Given the description of an element on the screen output the (x, y) to click on. 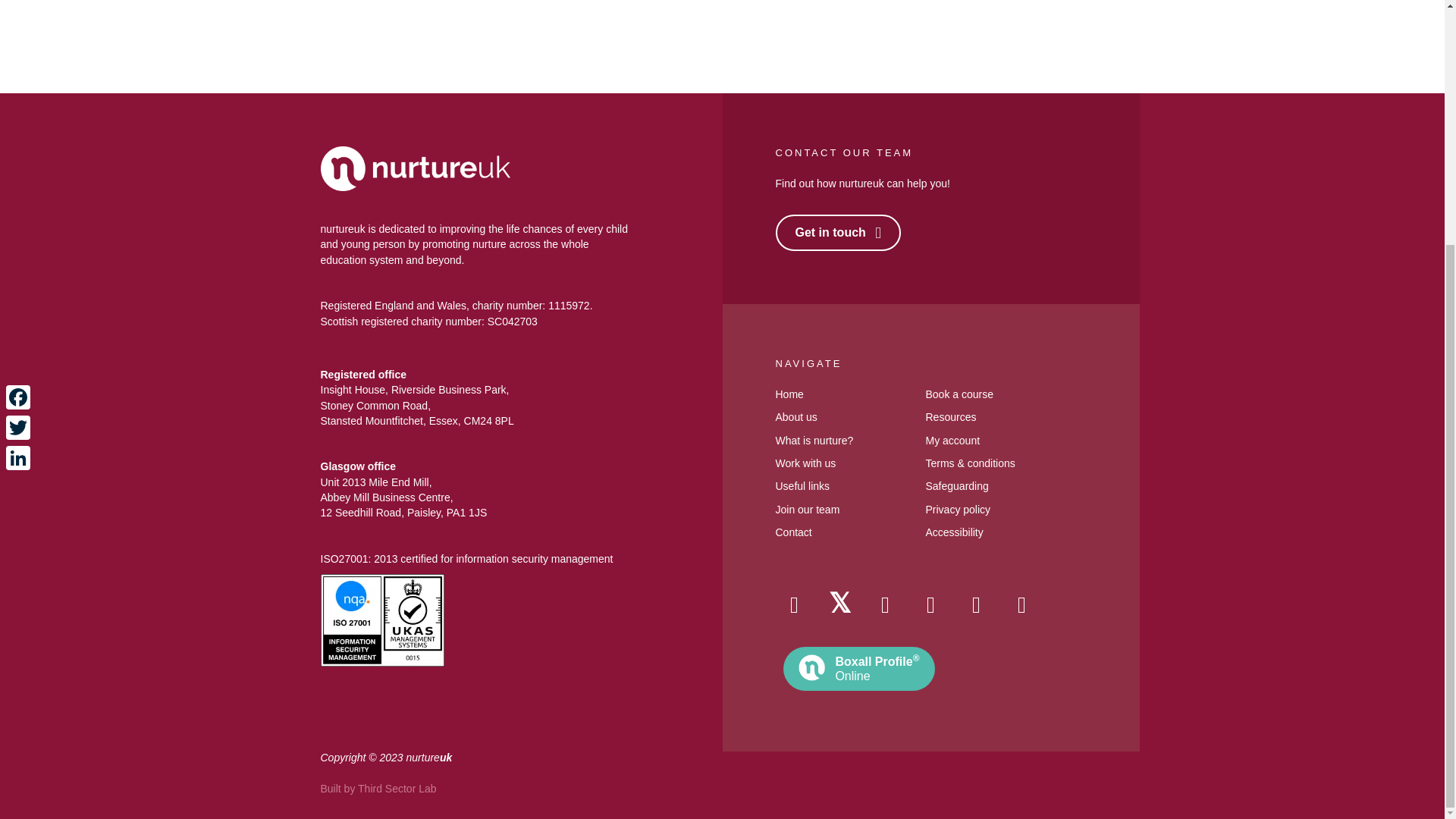
Facebook (17, 56)
Twitter (840, 605)
LinkedIn (930, 605)
NurtureUK-logo-RGB-WH-1536x361 (414, 168)
LinkedIn (17, 117)
Instagram (885, 605)
YouTube (975, 605)
TikTok (1022, 605)
Facebook (793, 605)
Twitter (17, 87)
